Given the description of an element on the screen output the (x, y) to click on. 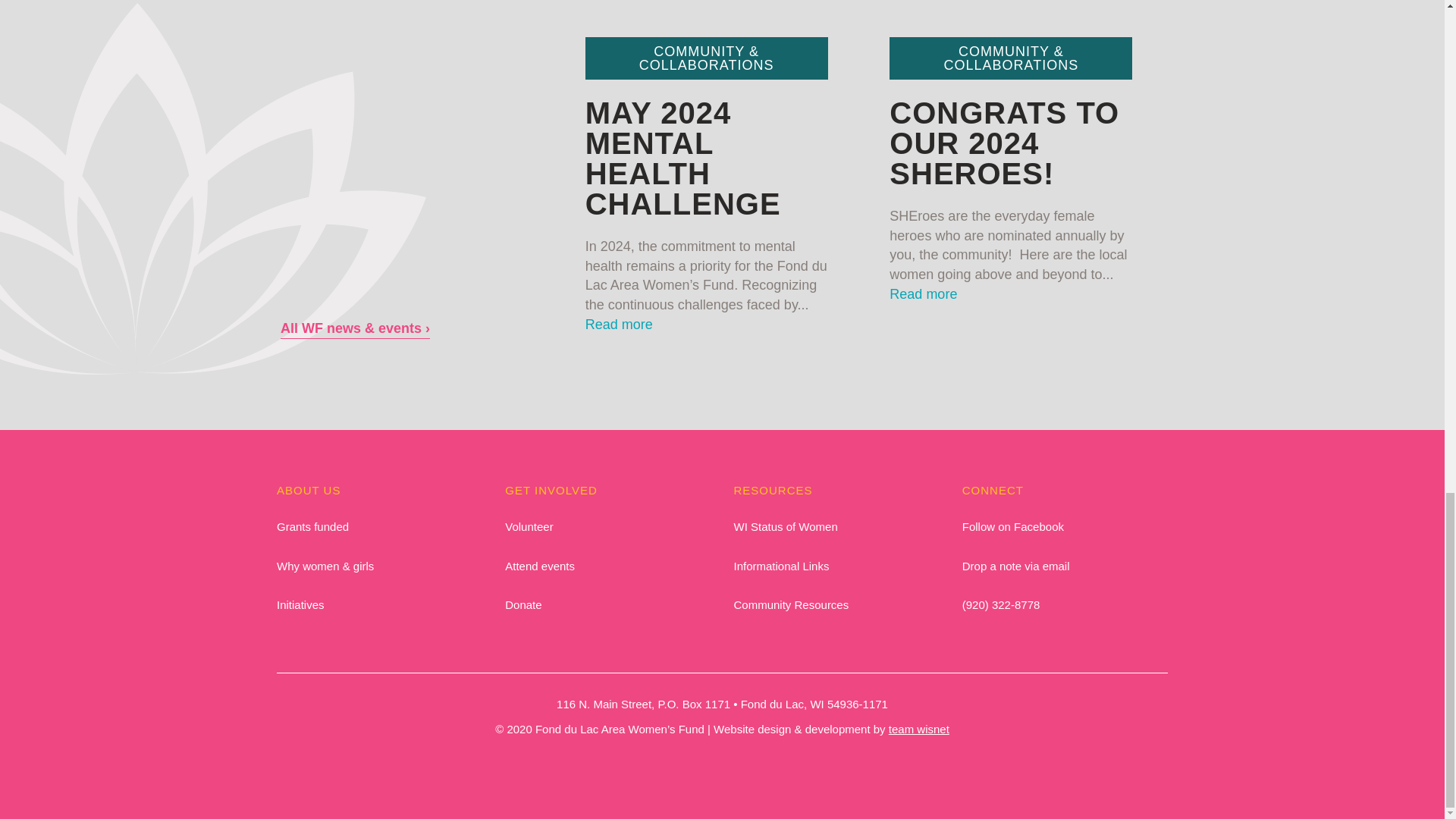
Read more (618, 324)
Grants funded (312, 526)
WI Status of Women (785, 526)
Donate (523, 604)
Initiatives (300, 604)
Read more (922, 294)
Attend events (540, 565)
Volunteer (529, 526)
